Given the description of an element on the screen output the (x, y) to click on. 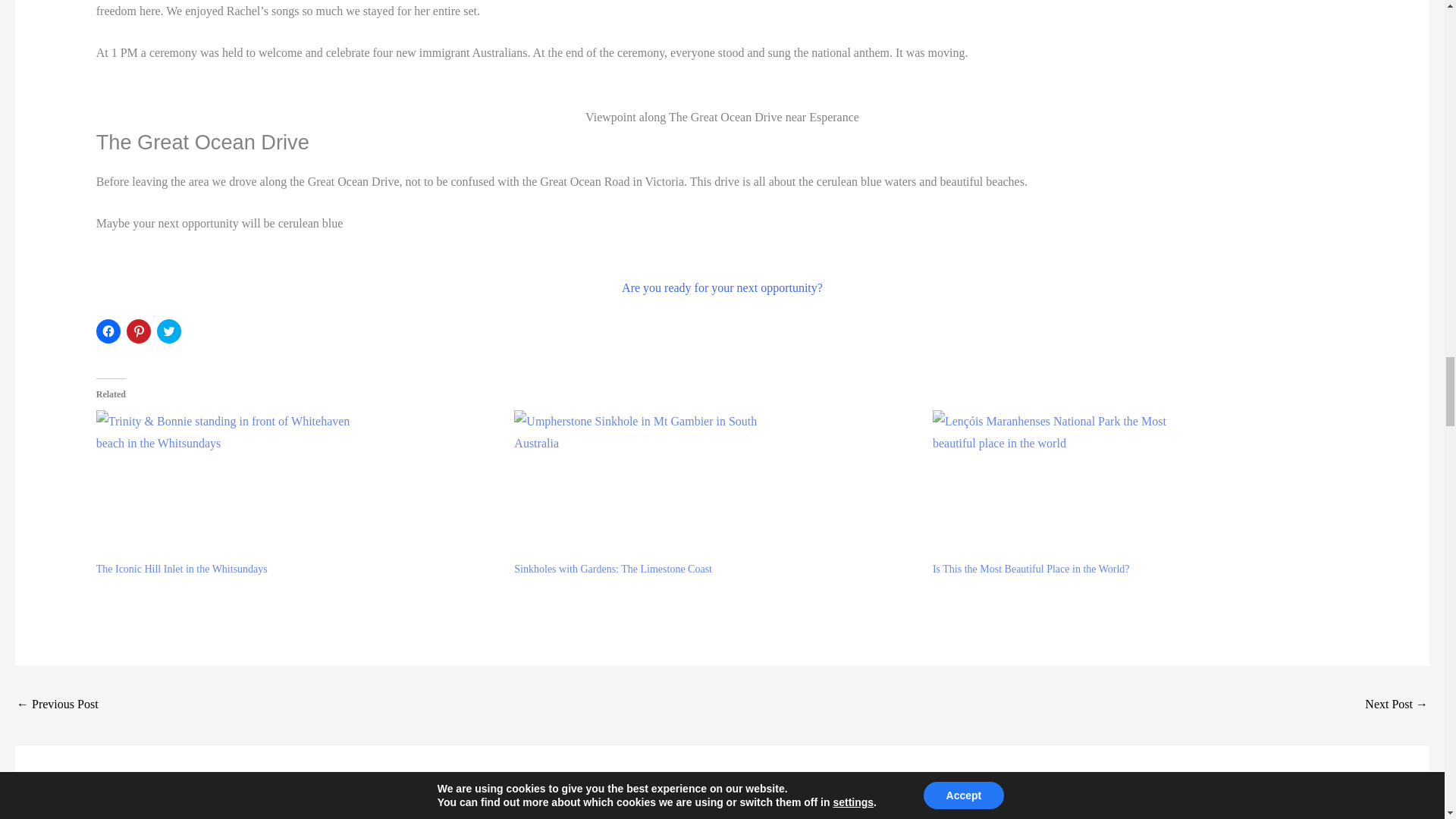
The Iconic Hill Inlet in the Whitsundays (297, 485)
Click to share on Facebook (108, 331)
Click to share on Twitter (168, 331)
Sinkholes with Gardens: The Limestone Coast (612, 568)
The Long Desolate Road Across the Nullarbor (57, 705)
Is This the Most Beautiful Place in the World? (1134, 485)
The Flinders: Redefining a Mountain (1396, 705)
Sinkholes with Gardens: The Limestone Coast (715, 485)
Is This the Most Beautiful Place in the World? (1031, 568)
Click to share on Pinterest (138, 331)
